Given the description of an element on the screen output the (x, y) to click on. 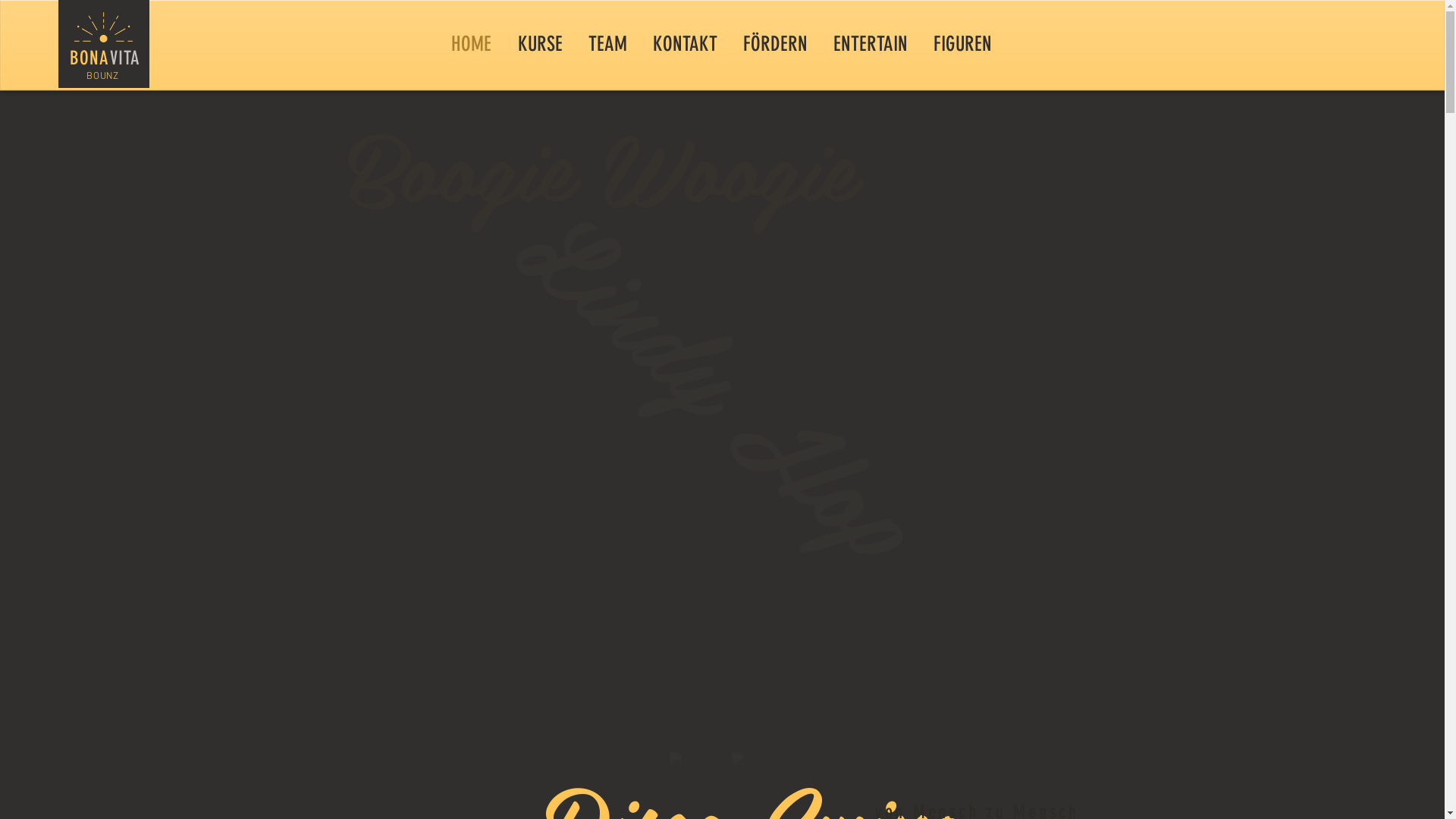
BONA Element type: text (89, 58)
ENTERTAIN Element type: text (870, 43)
KURSE Element type: text (540, 43)
KONTAKT Element type: text (685, 43)
TEAM Element type: text (606, 43)
VITA Element type: text (124, 58)
FIGUREN Element type: text (962, 43)
HOME Element type: text (471, 43)
BOUNZ Element type: text (102, 76)
